Given the description of an element on the screen output the (x, y) to click on. 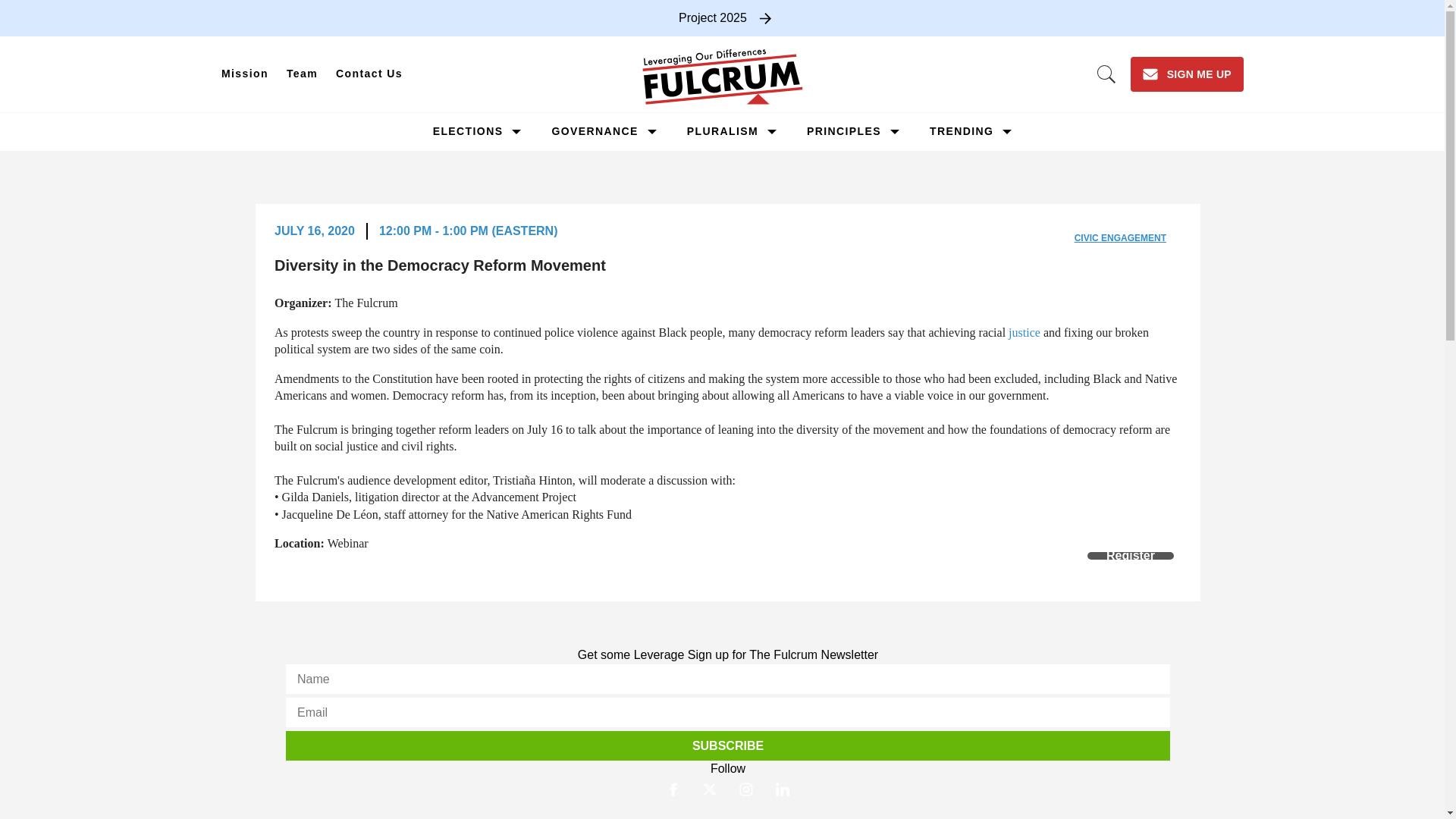
SIGN ME UP (1187, 73)
ELECTIONS (467, 131)
Open Search (1106, 74)
GOVERNANCE (594, 131)
Open Search (1106, 74)
Team (302, 73)
Contact Us (369, 73)
Subscribe (727, 745)
Mission (245, 73)
